Given the description of an element on the screen output the (x, y) to click on. 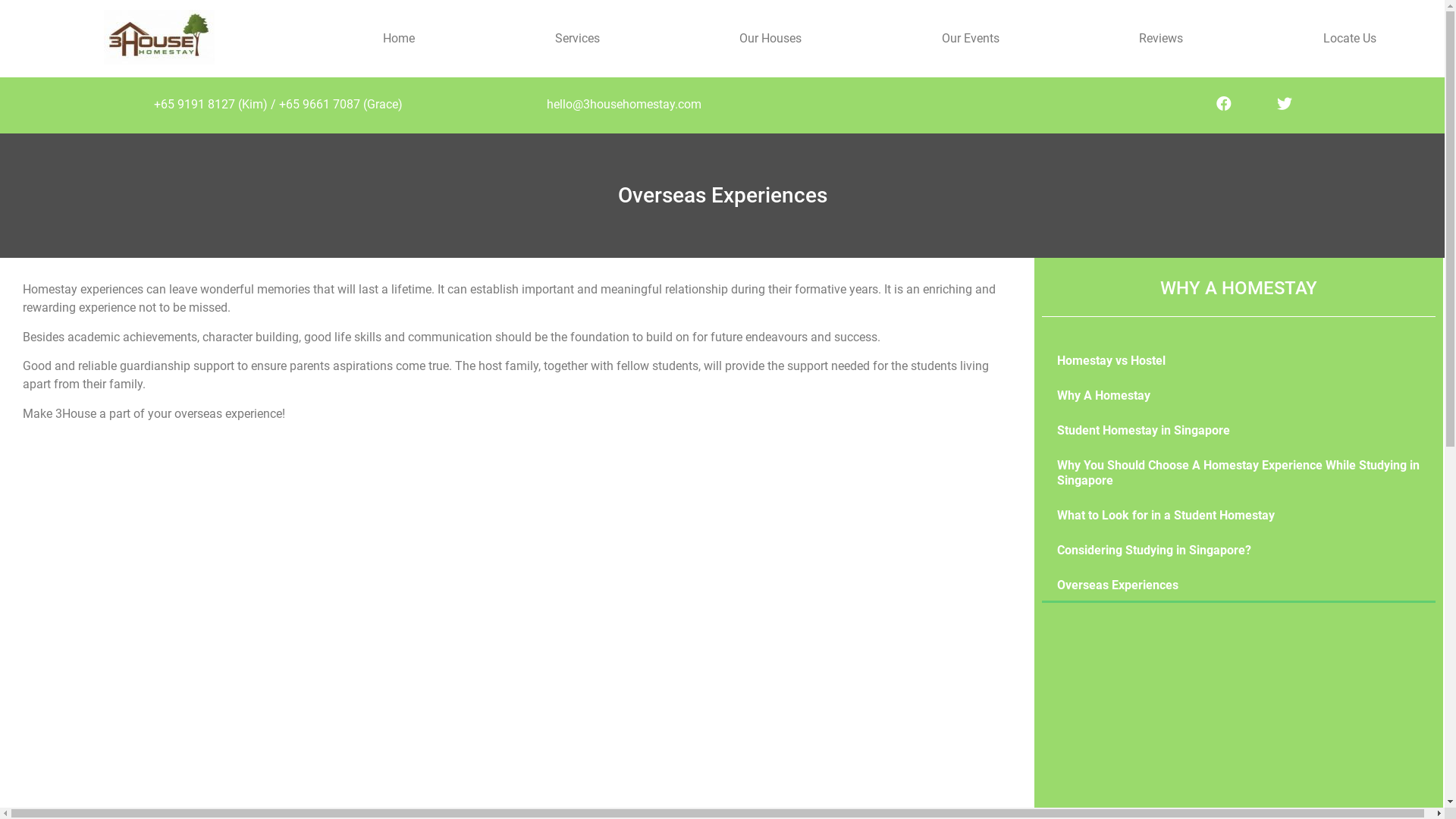
What to Look for in a Student Homestay Element type: text (1238, 515)
Homestay vs Hostel Element type: text (1238, 360)
Overseas Experiences Element type: text (1238, 584)
Why A Homestay Element type: text (1238, 395)
Considering Studying in Singapore? Element type: text (1238, 550)
Student Homestay in Singapore Element type: text (1238, 430)
